Given the description of an element on the screen output the (x, y) to click on. 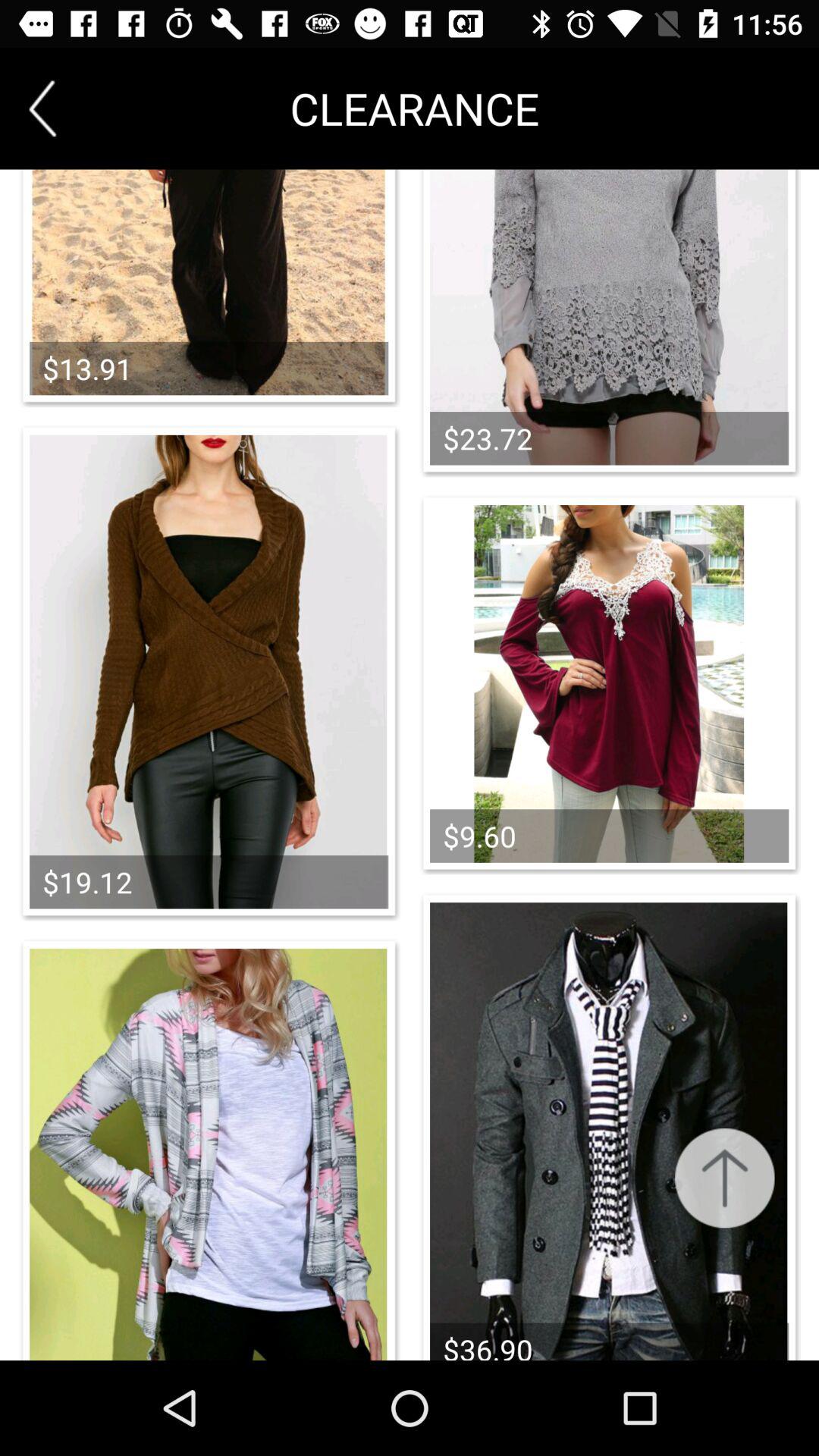
turn off item to the left of clearance item (42, 108)
